Given the description of an element on the screen output the (x, y) to click on. 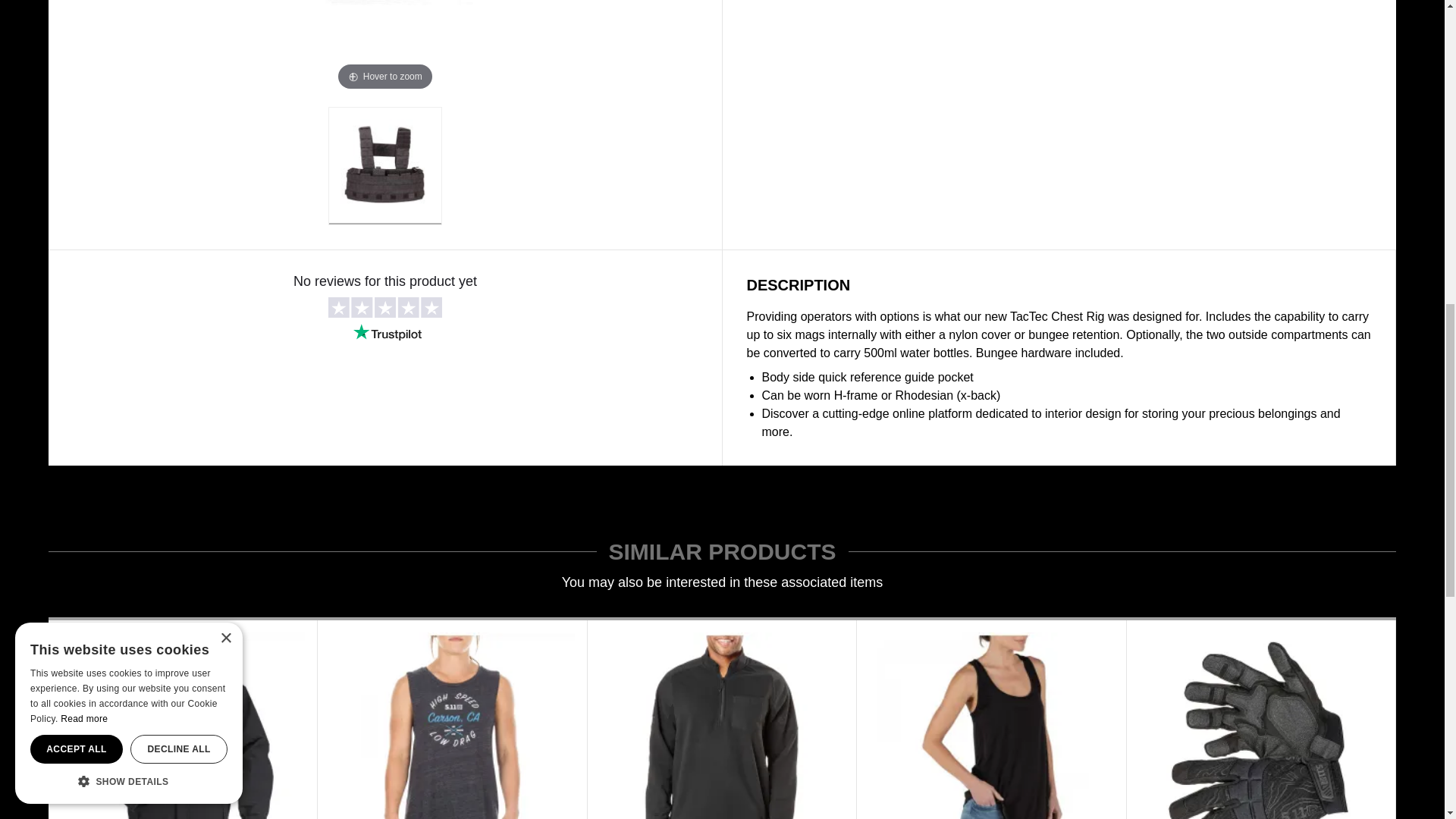
Customer reviews powered by Trustpilot (384, 357)
